Given the description of an element on the screen output the (x, y) to click on. 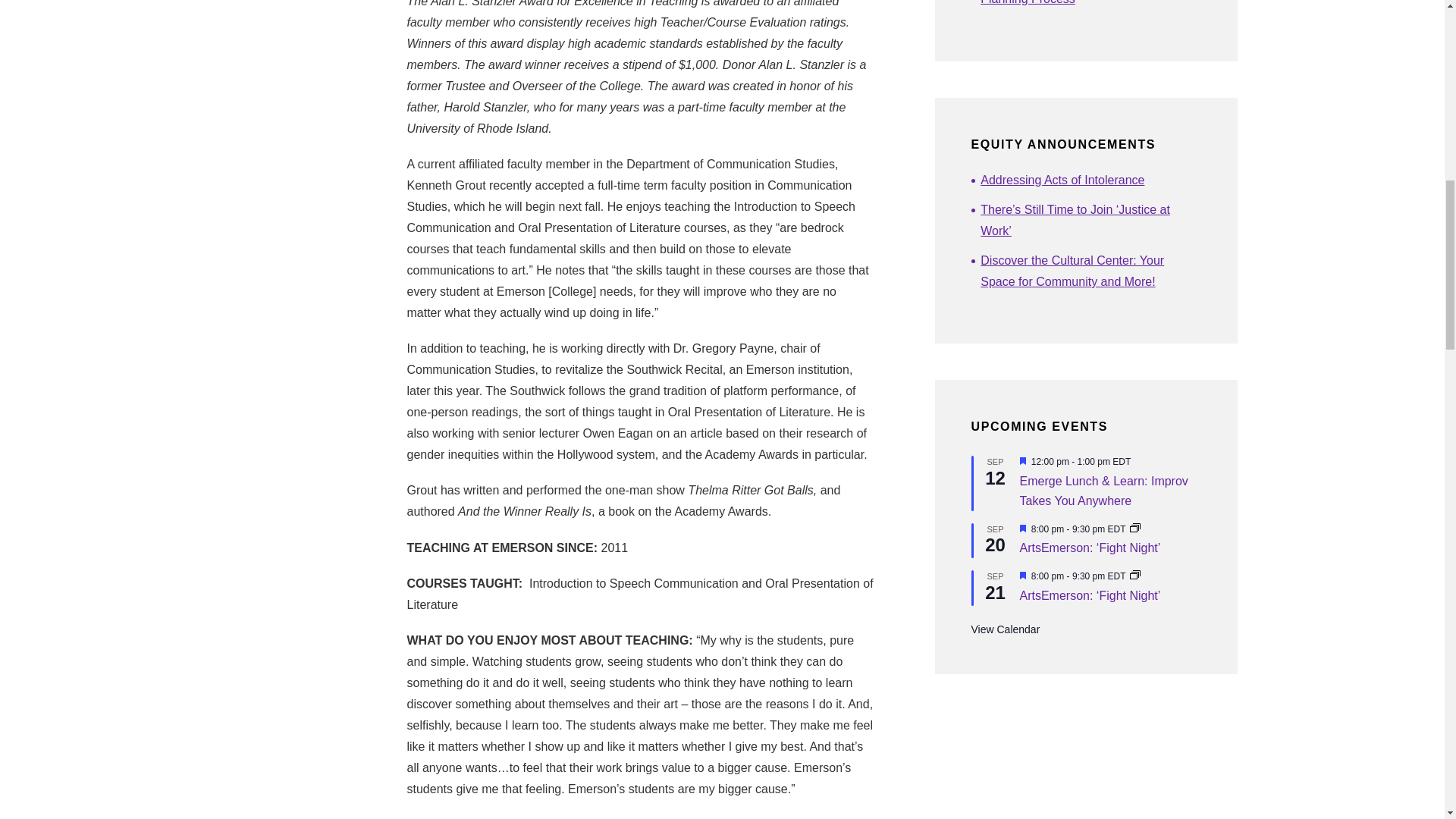
Event Series (1134, 529)
Featured (1022, 461)
Addressing Acts of Intolerance (1090, 179)
Featured (1022, 576)
View more events. (1005, 629)
Update on the Institutional Strategic Planning Process (1090, 4)
Featured (1022, 529)
Event Series (1134, 575)
